Given the description of an element on the screen output the (x, y) to click on. 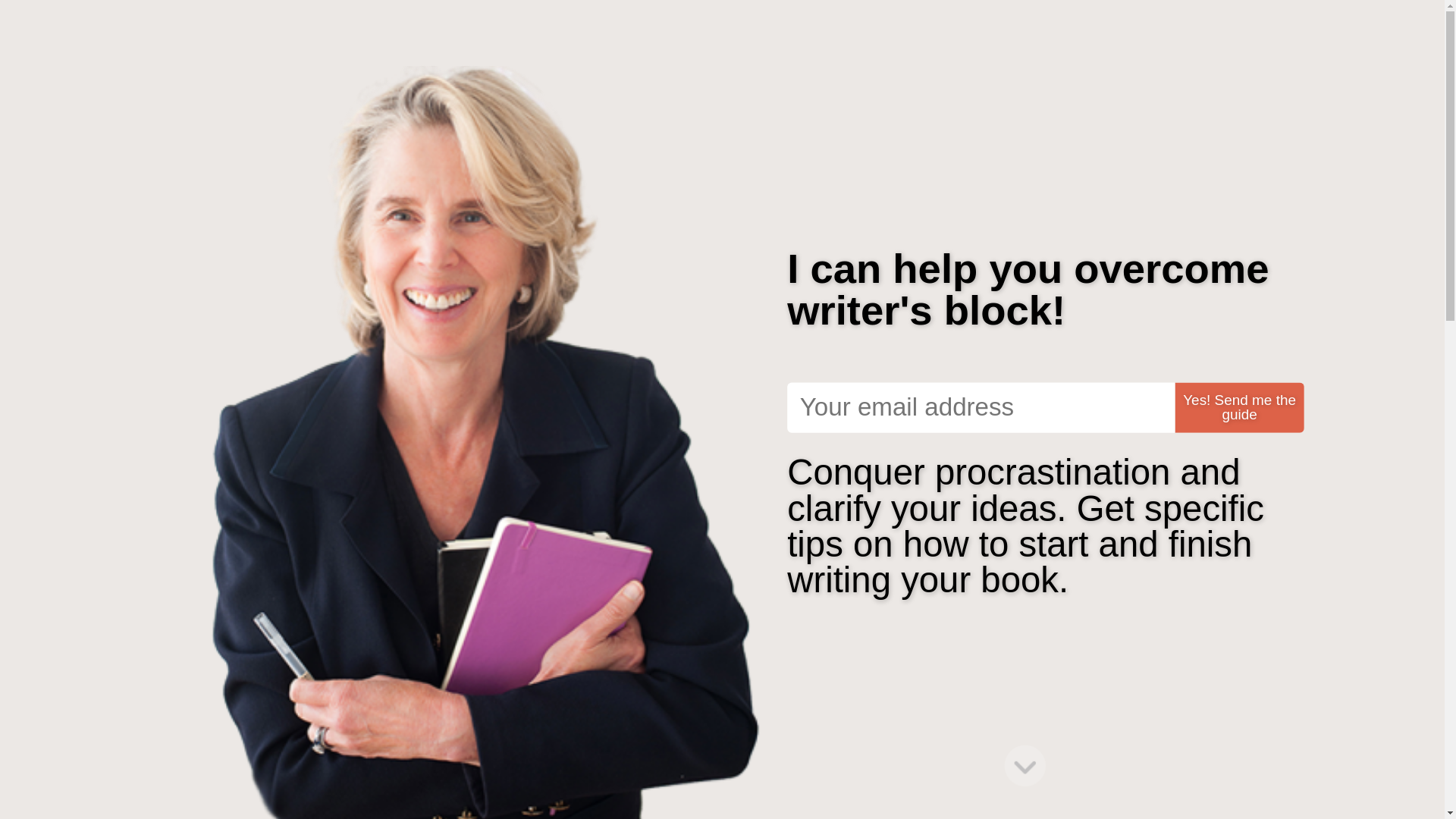
Yes! Send me the guide (1229, 404)
